Given the description of an element on the screen output the (x, y) to click on. 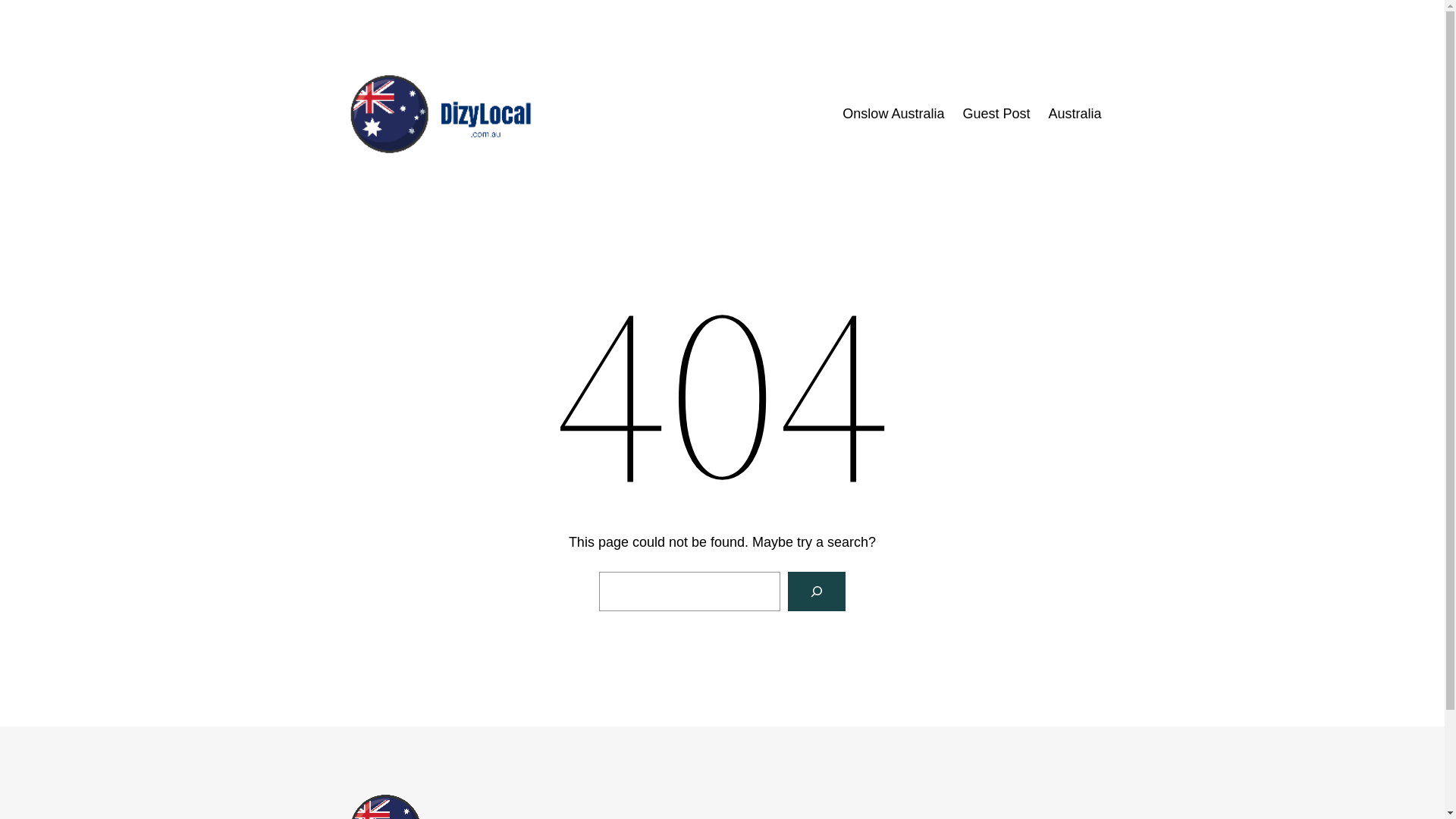
Guest Post Element type: text (995, 114)
Onslow Australia Element type: text (893, 114)
Australia Element type: text (1074, 114)
